Given the description of an element on the screen output the (x, y) to click on. 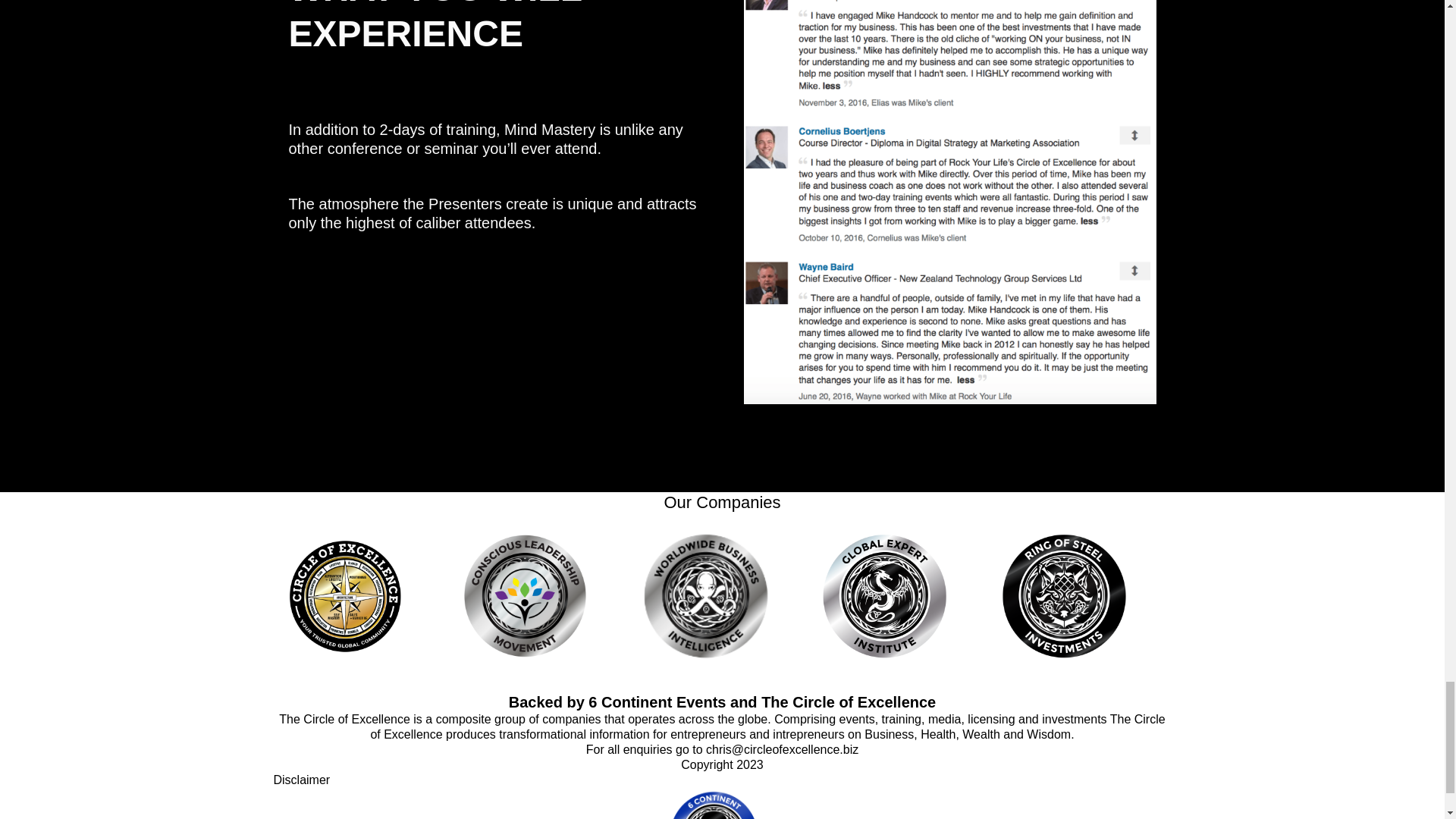
Disclaimer (301, 779)
